Given the description of an element on the screen output the (x, y) to click on. 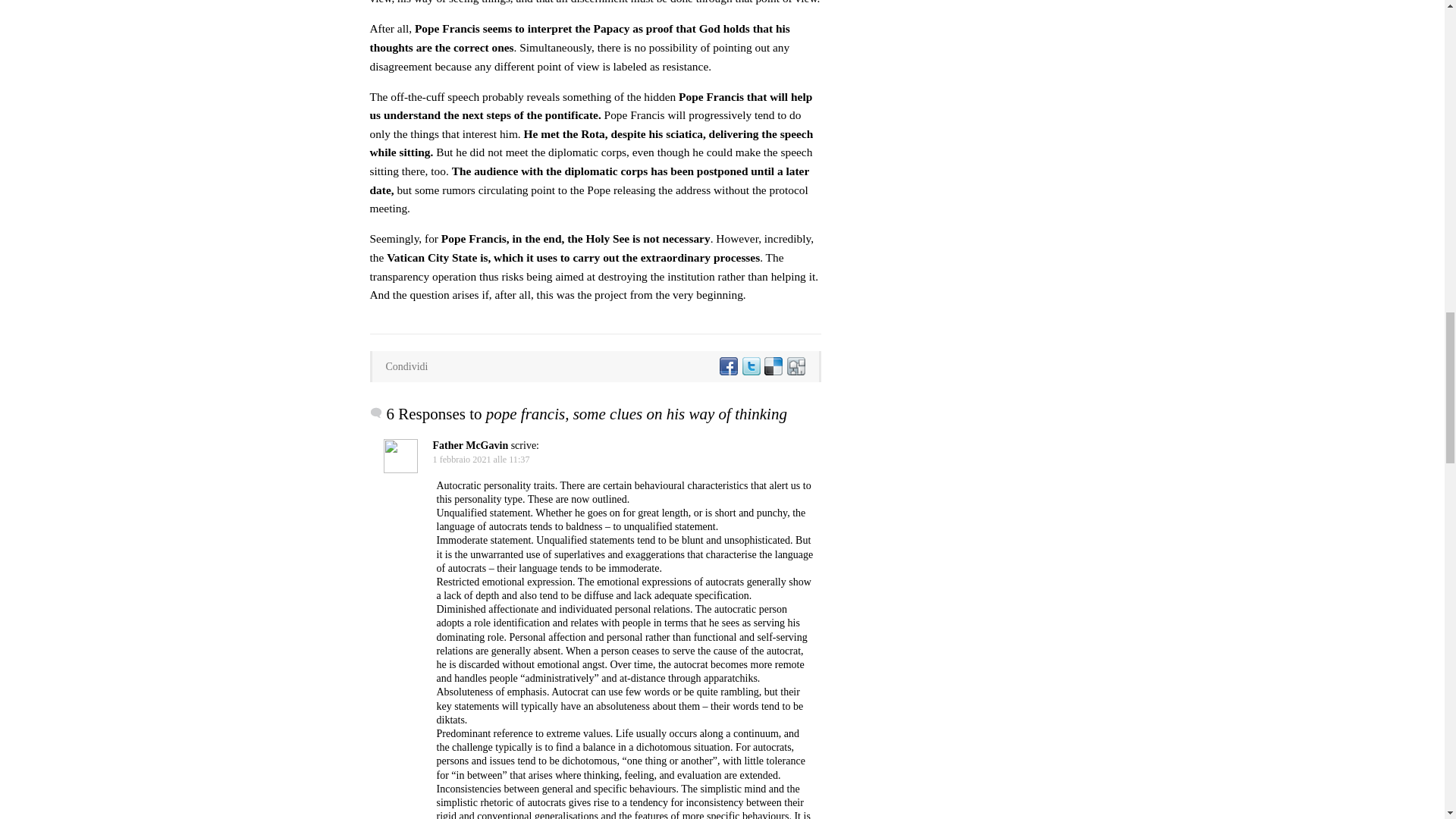
Share on Facebook (727, 366)
1 febbraio 2021 alle 11:37 (480, 459)
Share on Twitter (749, 366)
Share on Delicious (772, 366)
Share on Digg (795, 366)
